Given the description of an element on the screen output the (x, y) to click on. 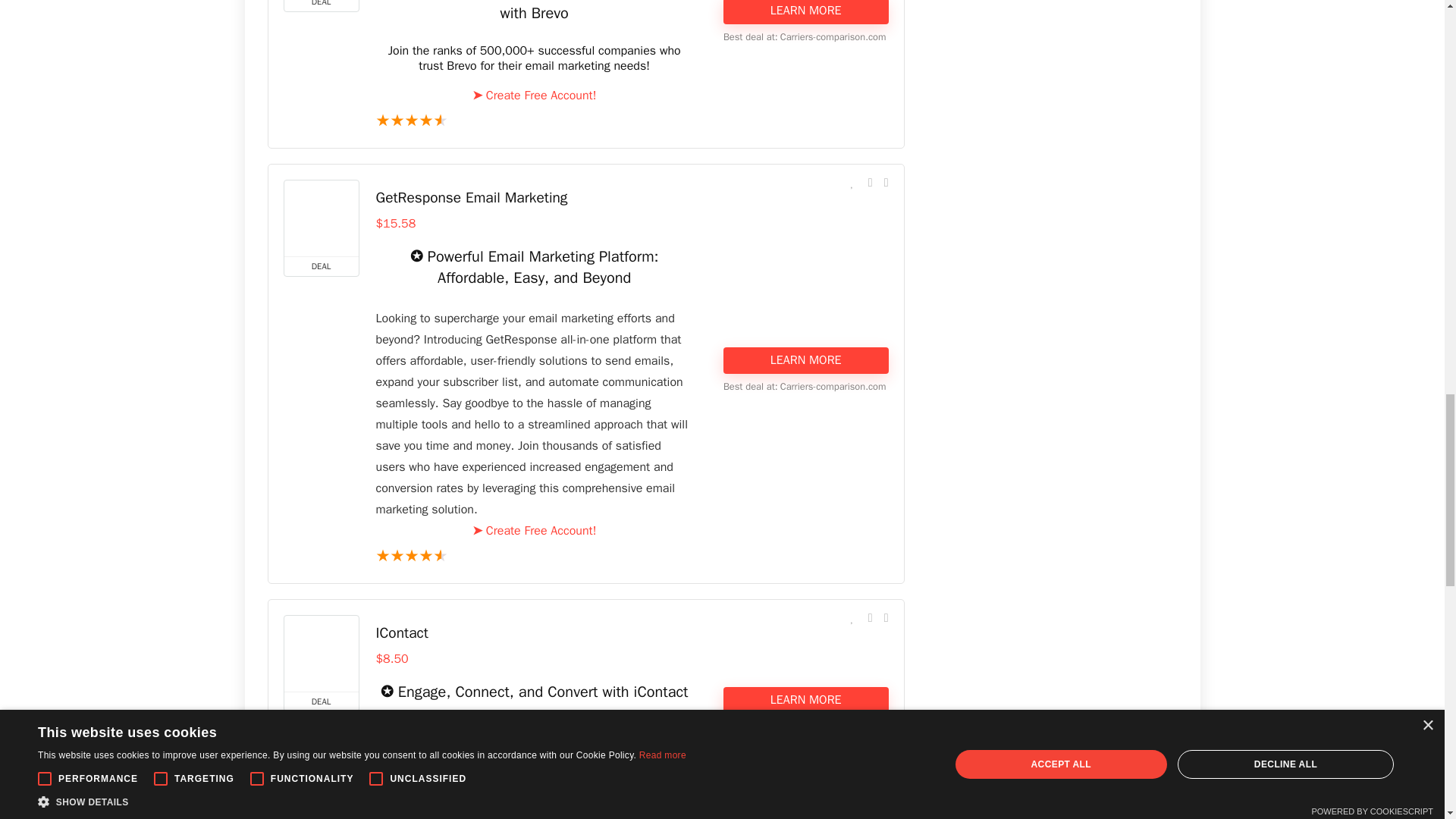
Rated 9 out of 10 (534, 799)
Email Marketing (533, 530)
Rated 9.5 out of 10 (534, 120)
Rated 9.6 out of 10 (534, 556)
